Given the description of an element on the screen output the (x, y) to click on. 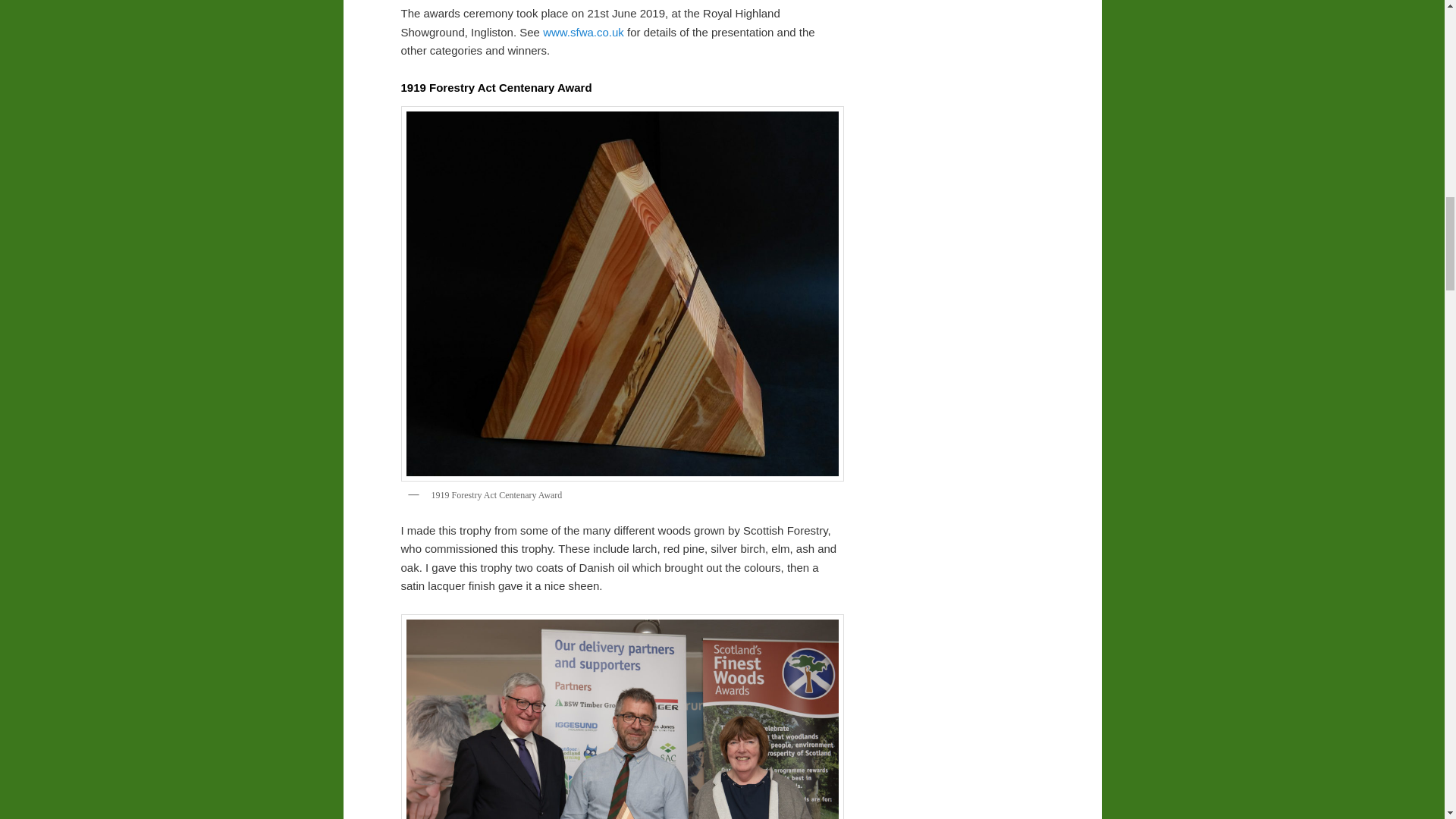
www.sfwa.co.uk (585, 31)
